Given the description of an element on the screen output the (x, y) to click on. 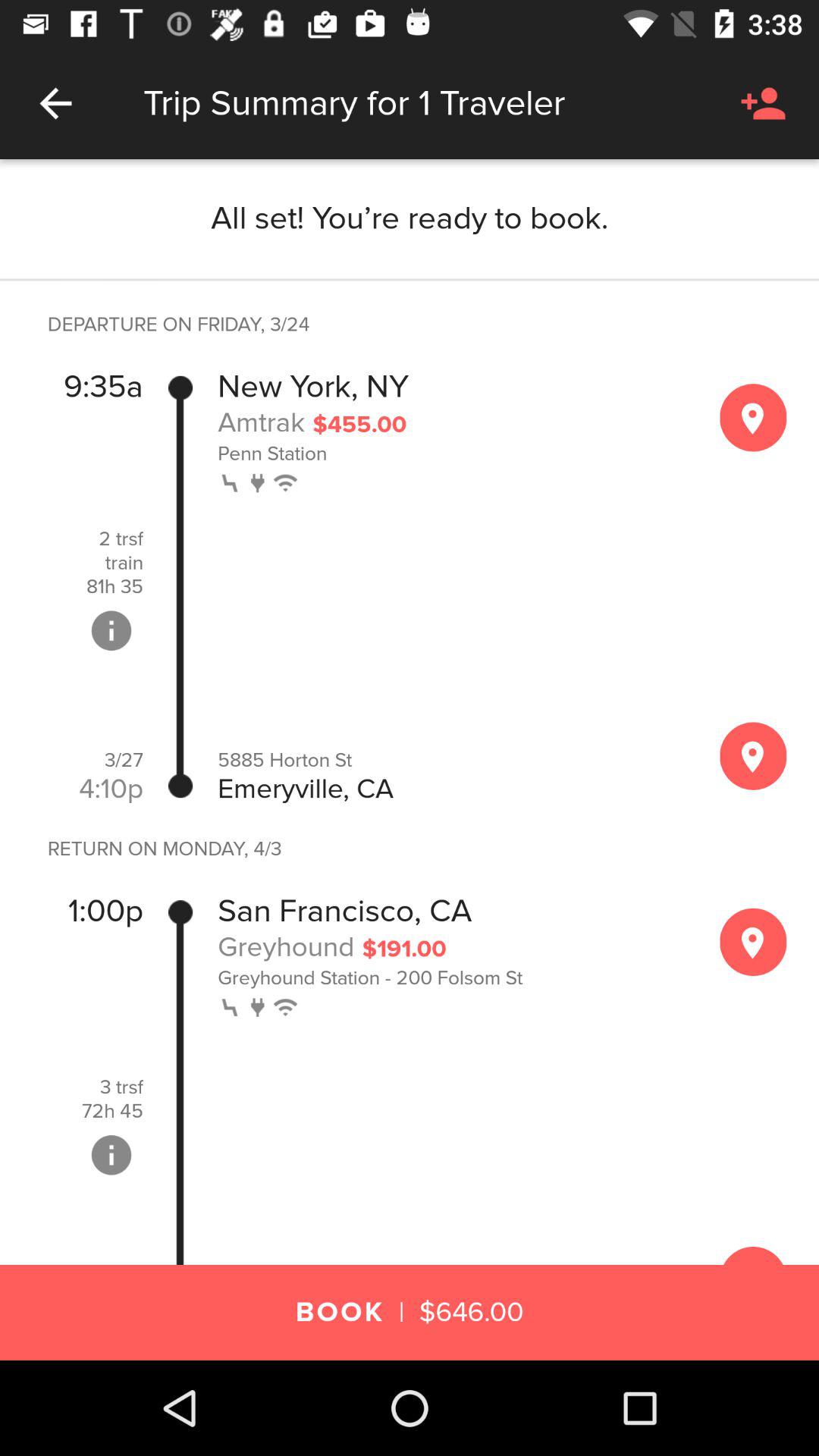
see map of area (753, 941)
